Given the description of an element on the screen output the (x, y) to click on. 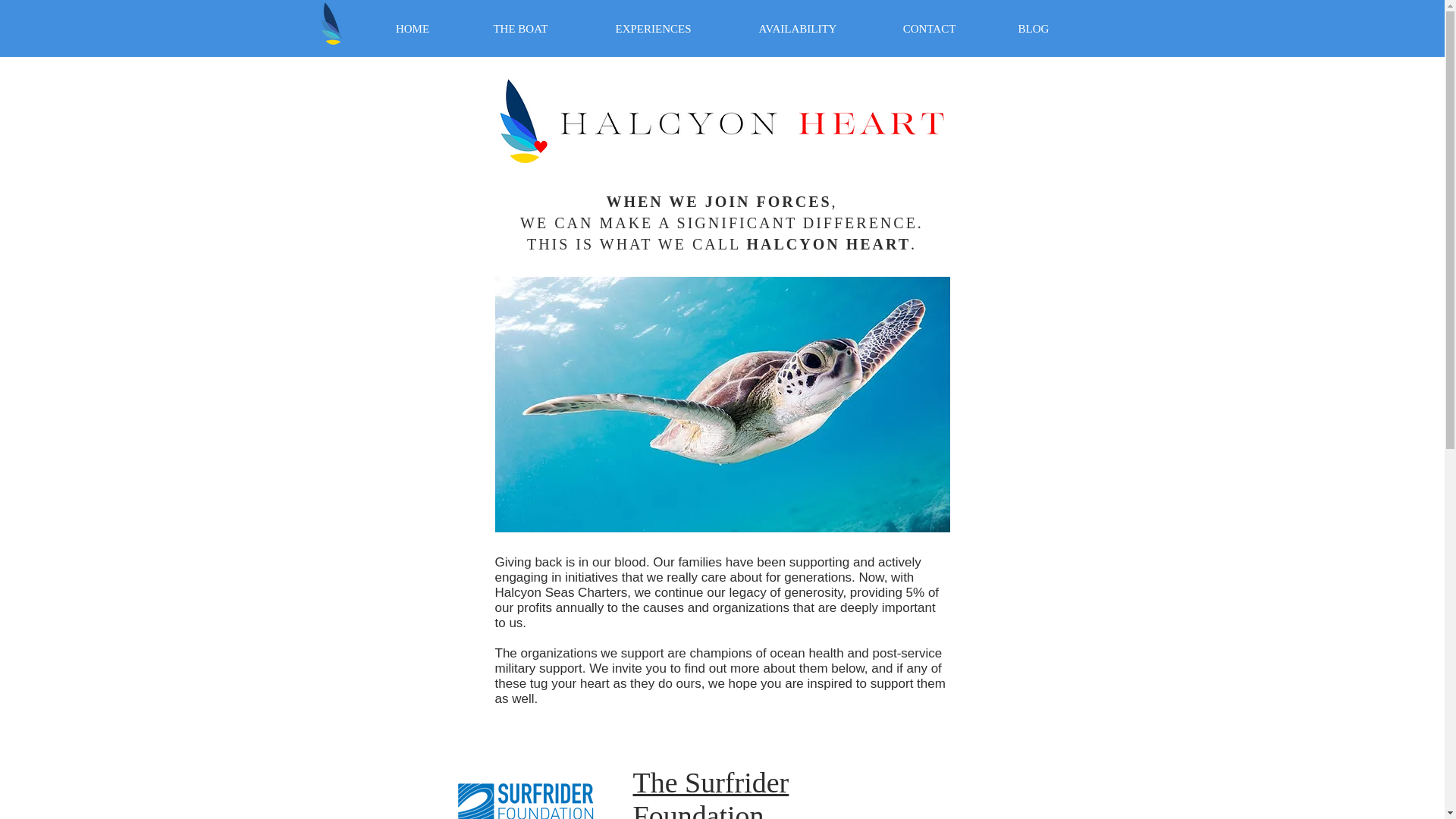
The Surfrider (710, 782)
BLOG (1033, 28)
Foundation (696, 809)
THE BOAT (520, 28)
AVAILABILITY (797, 28)
CONTACT (929, 28)
HOME (412, 28)
EXPERIENCES (652, 28)
